Given the description of an element on the screen output the (x, y) to click on. 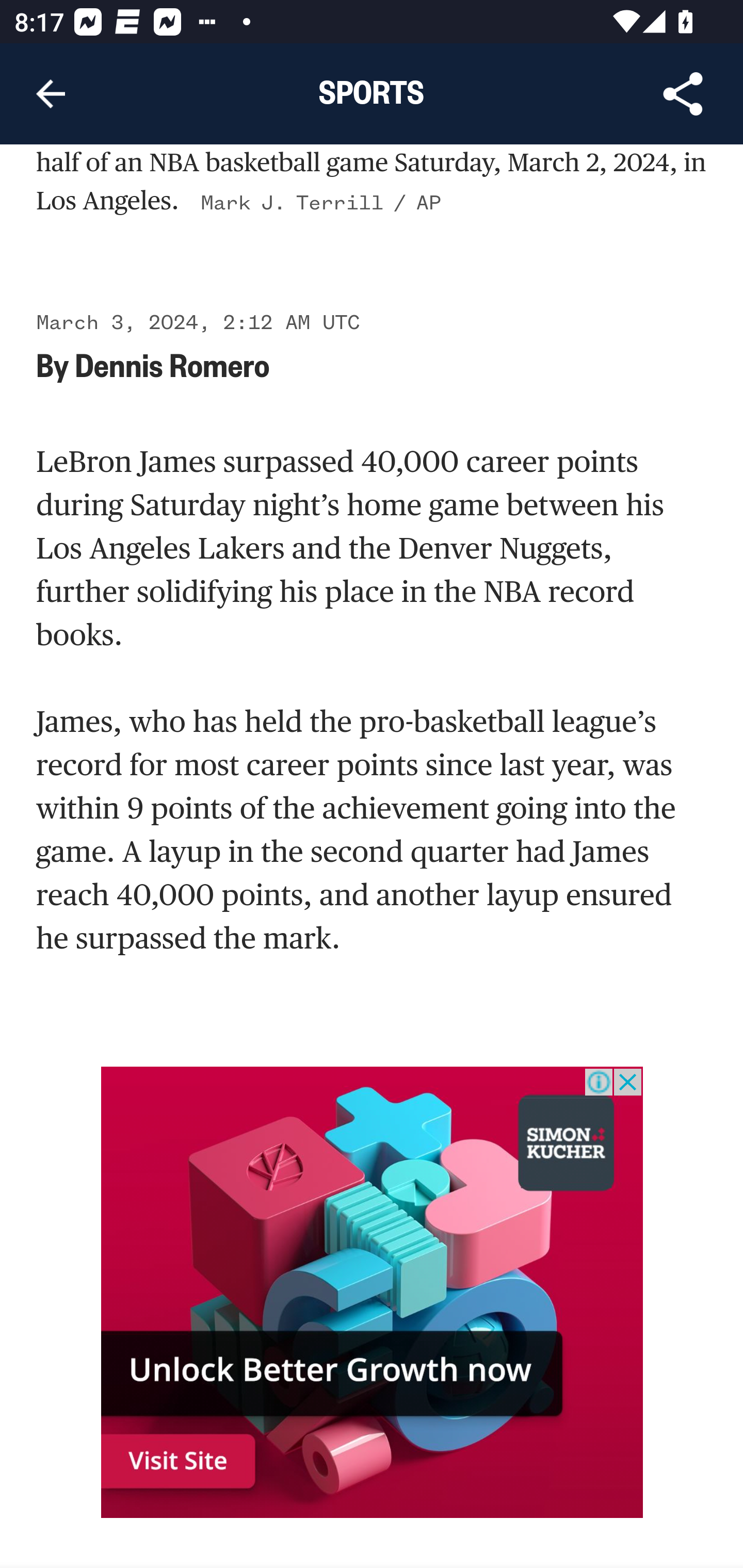
Navigate up (50, 93)
Share Article, button (683, 94)
